Given the description of an element on the screen output the (x, y) to click on. 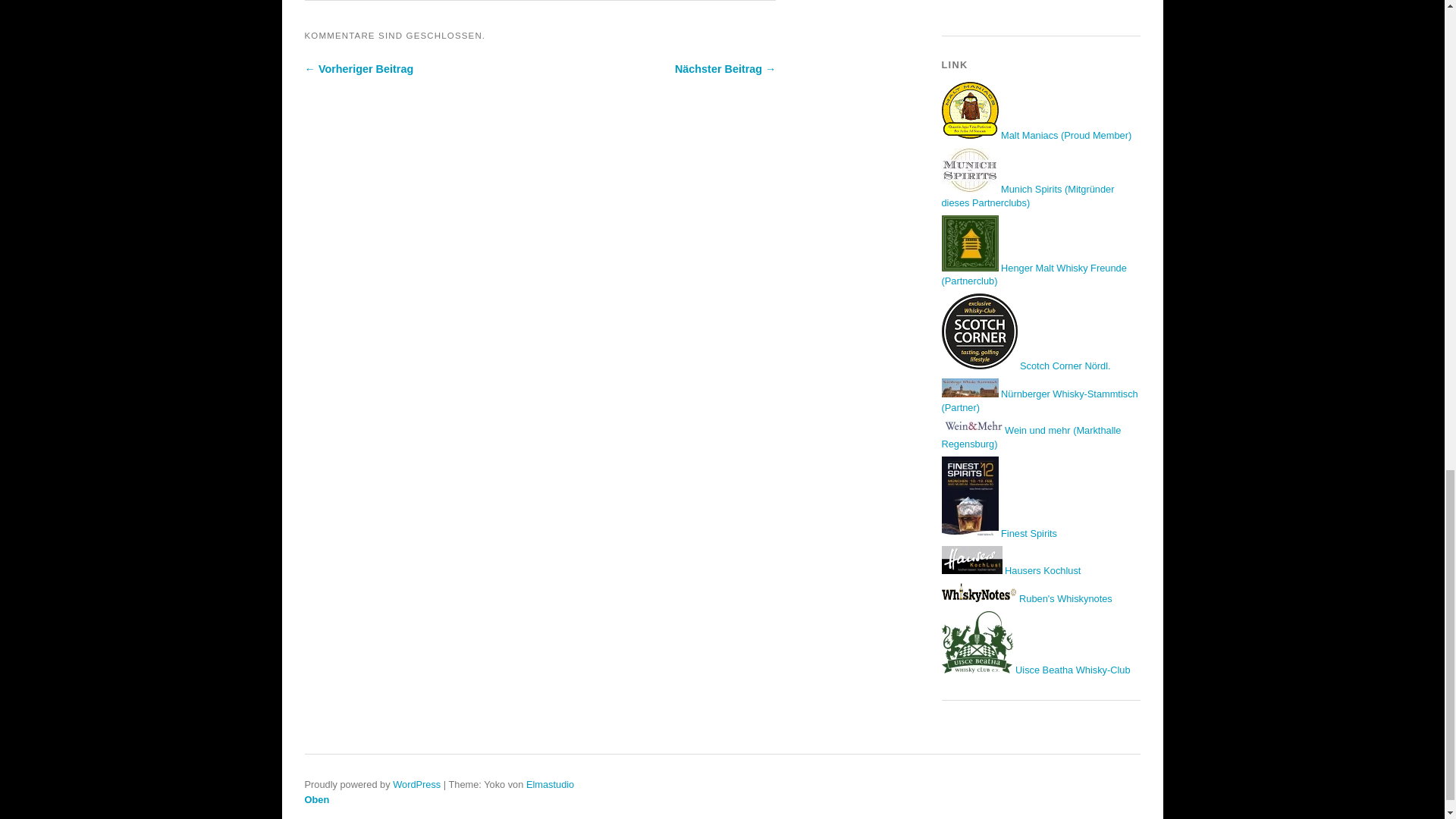
Weine und Spirits in Regensburg (1031, 437)
Weine und Spirits in Regensburg (972, 427)
